Given the description of an element on the screen output the (x, y) to click on. 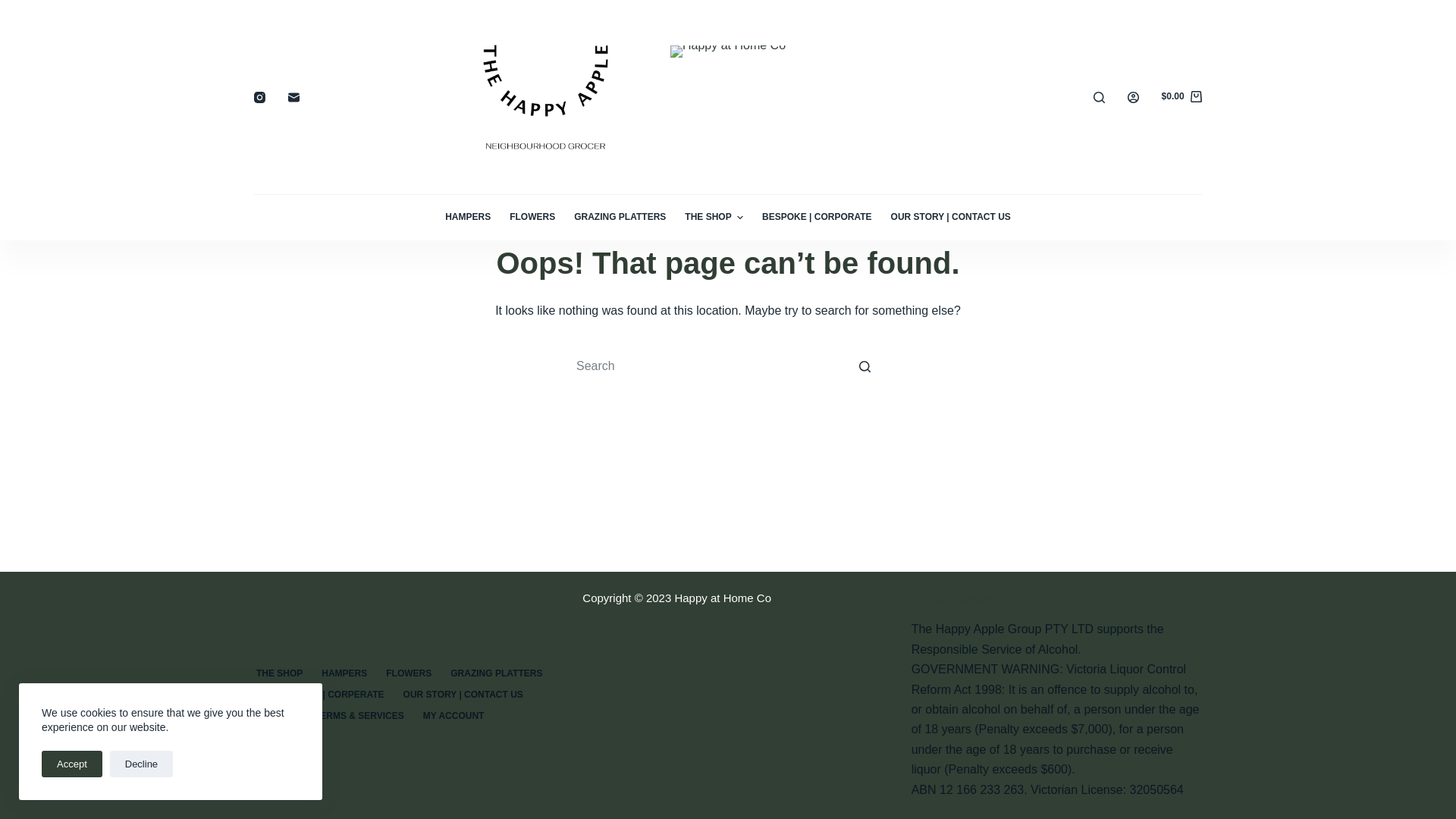
OUR STORY | CONTACT US Element type: text (462, 695)
THE SHOP Element type: text (278, 674)
HAMPERS Element type: text (468, 217)
$0.00 Element type: text (1181, 96)
Skip to content Element type: text (15, 7)
THE SHOP Element type: text (714, 217)
GRAZING PLATTERS Element type: text (496, 674)
FLOWERS Element type: text (532, 217)
TERMS & SERVICES Element type: text (358, 716)
Decline Element type: text (140, 763)
BESPOKE | CORPORATE Element type: text (817, 217)
HAMPERS Element type: text (344, 674)
OUR STORY | CONTACT US Element type: text (950, 217)
GRAZING PLATTERS Element type: text (619, 217)
BESPOKE | CORPERATE Element type: text (329, 695)
FLOWERS Element type: text (408, 674)
Accept Element type: text (71, 763)
Search for... Element type: hover (727, 366)
MY ACCOUNT Element type: text (453, 716)
